Given the description of an element on the screen output the (x, y) to click on. 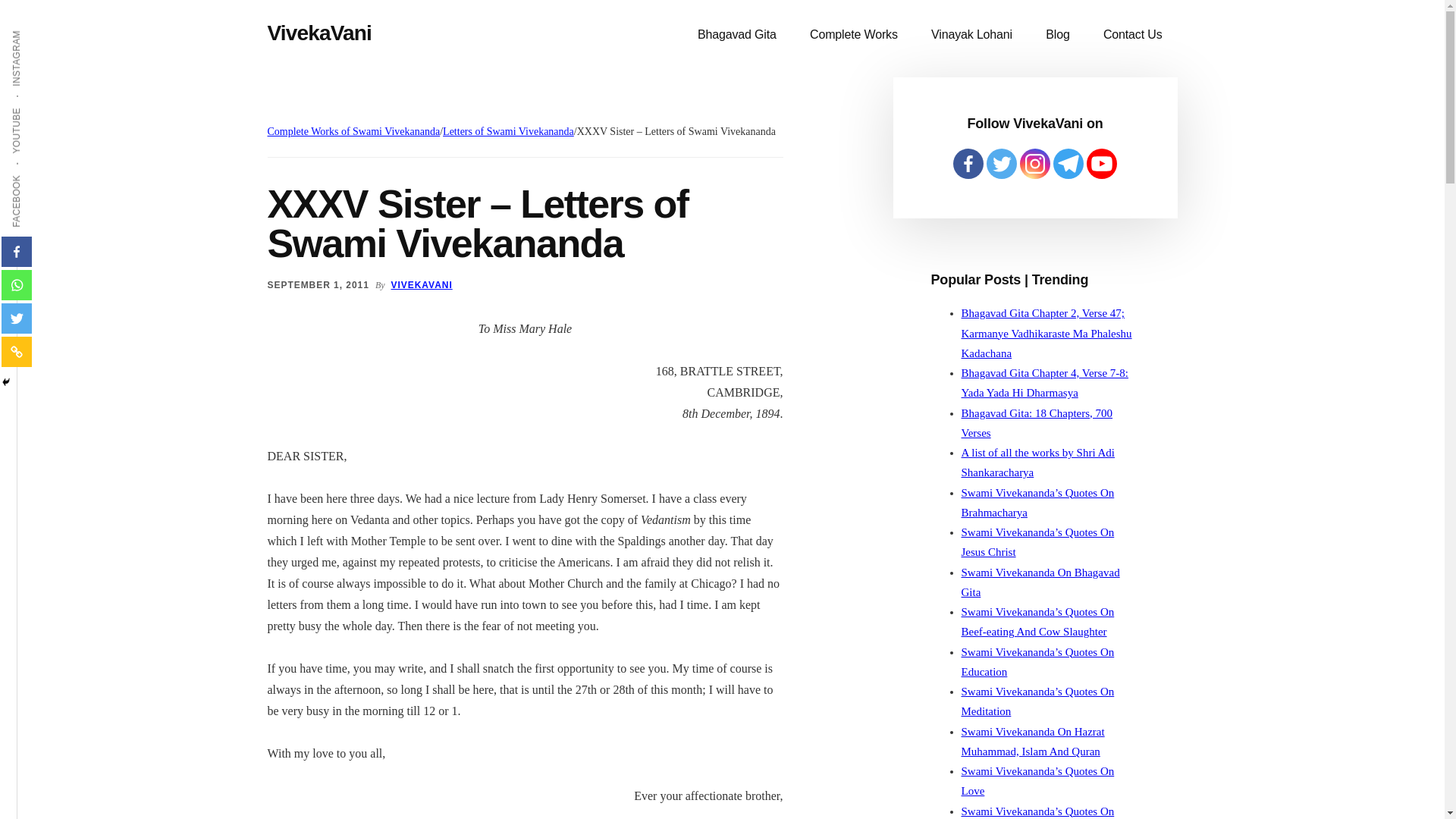
FACEBOOK (44, 173)
Facebook (16, 251)
Telegram (1067, 163)
Twitter (16, 318)
YOUTUBE (41, 106)
Hide (5, 381)
Copy Link (16, 351)
Twitter (1001, 163)
Bhagavad Gita (737, 34)
Instagram (1034, 163)
Go to the Letters of Swami Vivekananda Category archives. (507, 131)
Vinayak Lohani (971, 34)
INSTAGRAM (45, 28)
